Given the description of an element on the screen output the (x, y) to click on. 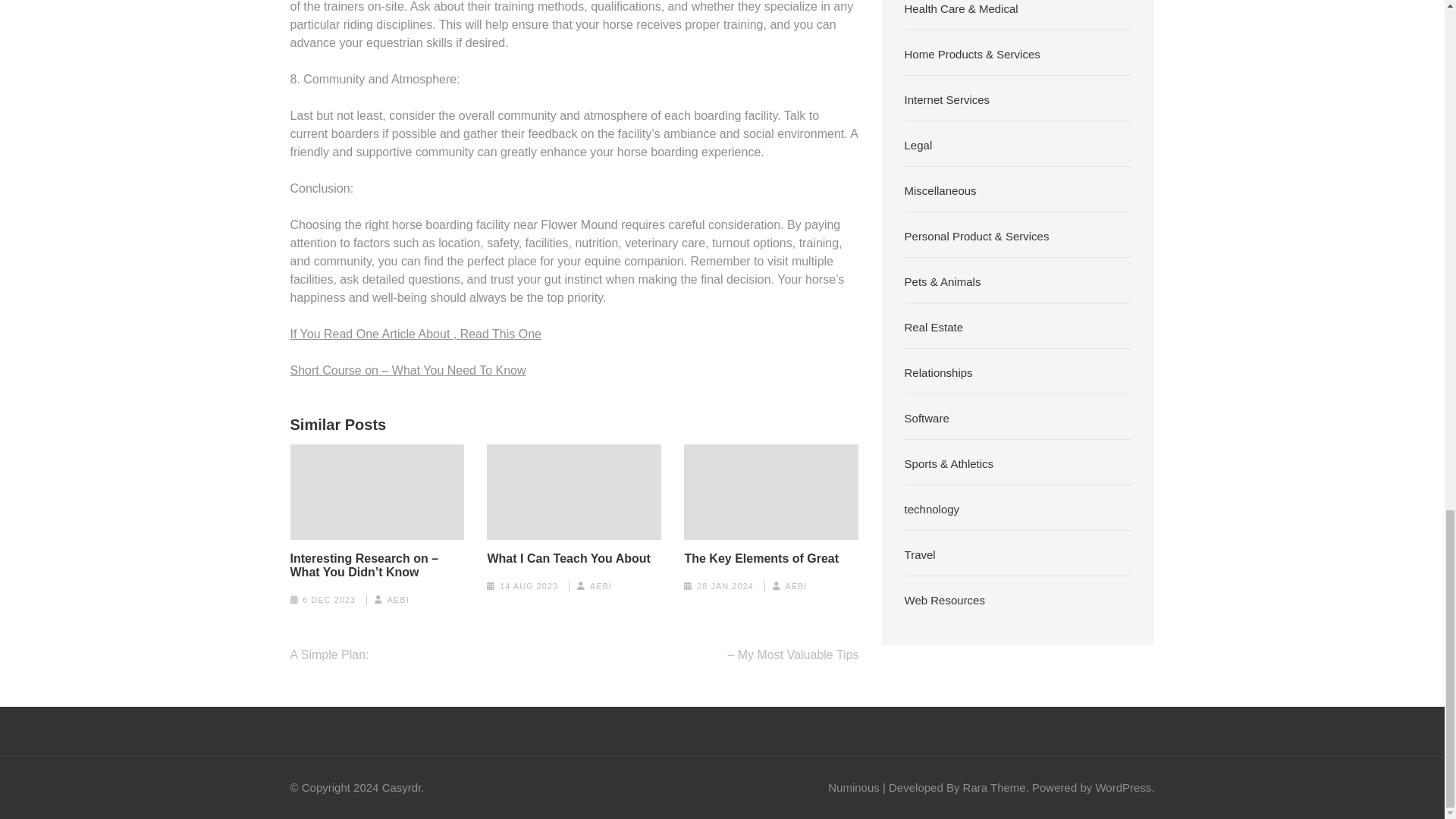
If You Read One Article About , Read This One (414, 333)
A Simple Plan: (328, 654)
The Key Elements of Great (761, 558)
14 AUG 2023 (528, 585)
28 JAN 2024 (725, 585)
AEBI (600, 585)
AEBI (398, 599)
AEBI (795, 585)
What I Can Teach You About (567, 558)
6 DEC 2023 (328, 599)
